Given the description of an element on the screen output the (x, y) to click on. 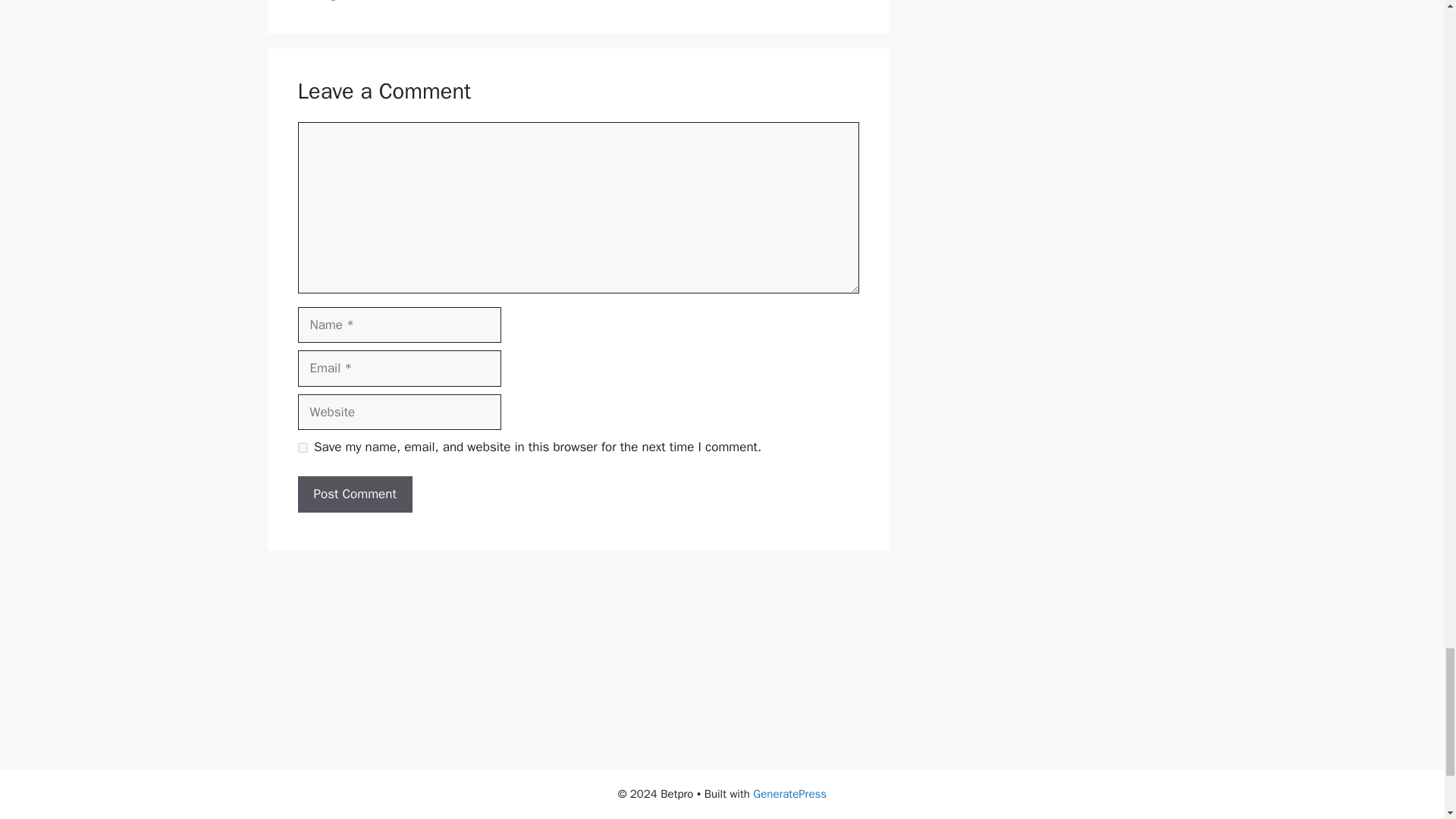
yes (302, 447)
Post Comment (354, 493)
Post Comment (354, 493)
Blogs (328, 0)
GeneratePress (789, 793)
